Given the description of an element on the screen output the (x, y) to click on. 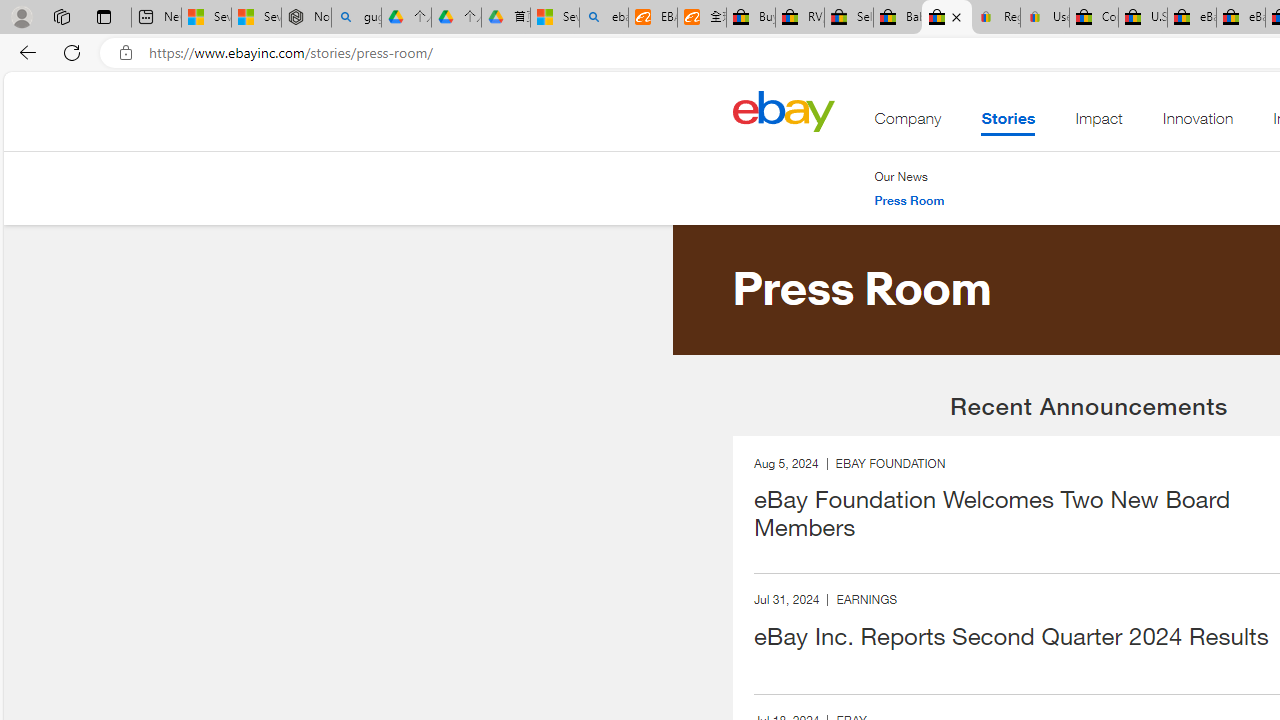
Home (783, 110)
Press Room (909, 201)
Our News (901, 176)
Home (783, 110)
Innovation (1197, 123)
Company (908, 123)
Impact (1098, 123)
Personal Profile (21, 16)
Press Room - eBay Inc. (946, 17)
Close tab (956, 16)
Impact (1098, 123)
Workspaces (61, 16)
Baby Keepsakes & Announcements for sale | eBay (897, 17)
